Given the description of an element on the screen output the (x, y) to click on. 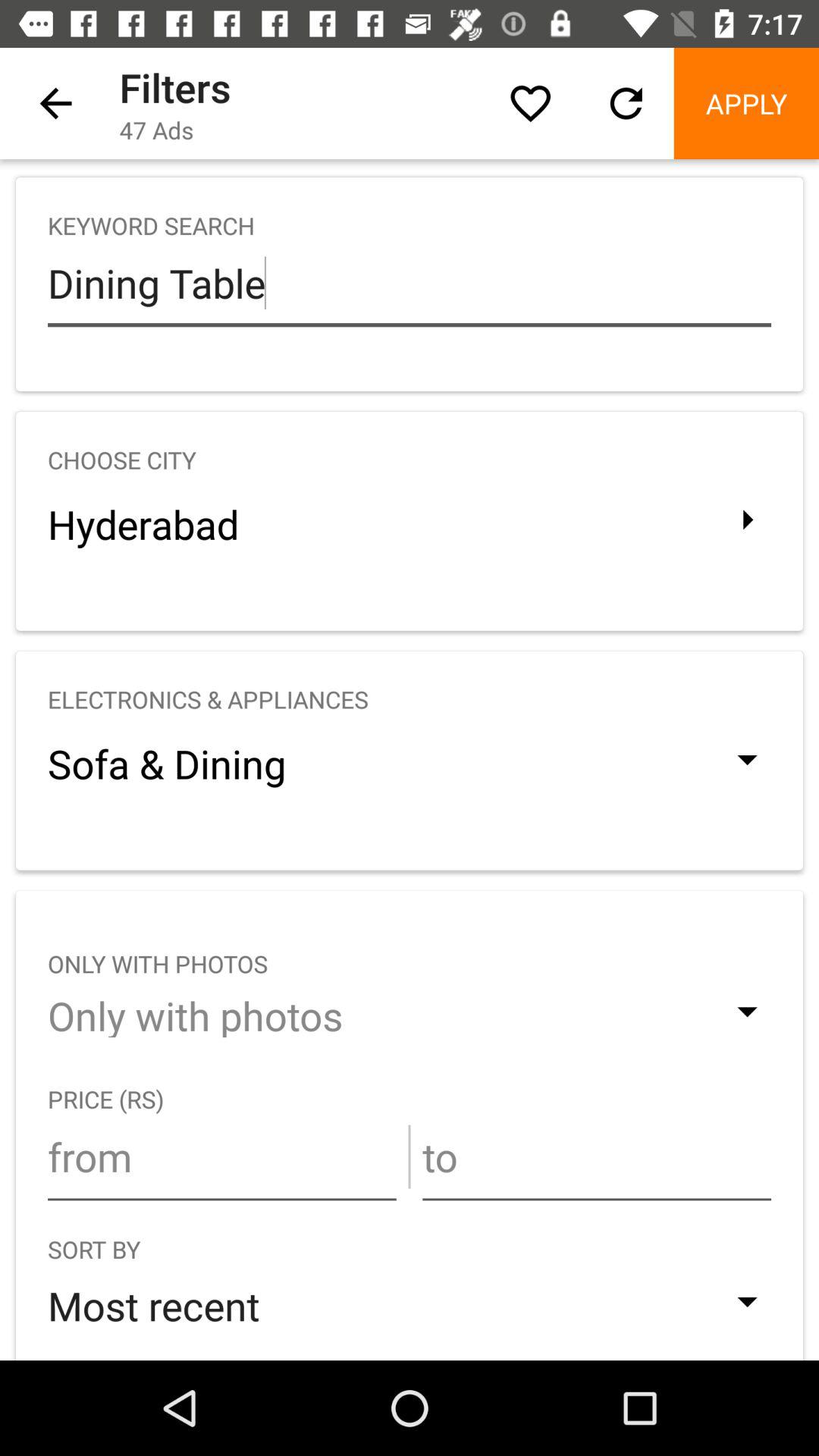
press item above the keyword search (530, 103)
